Given the description of an element on the screen output the (x, y) to click on. 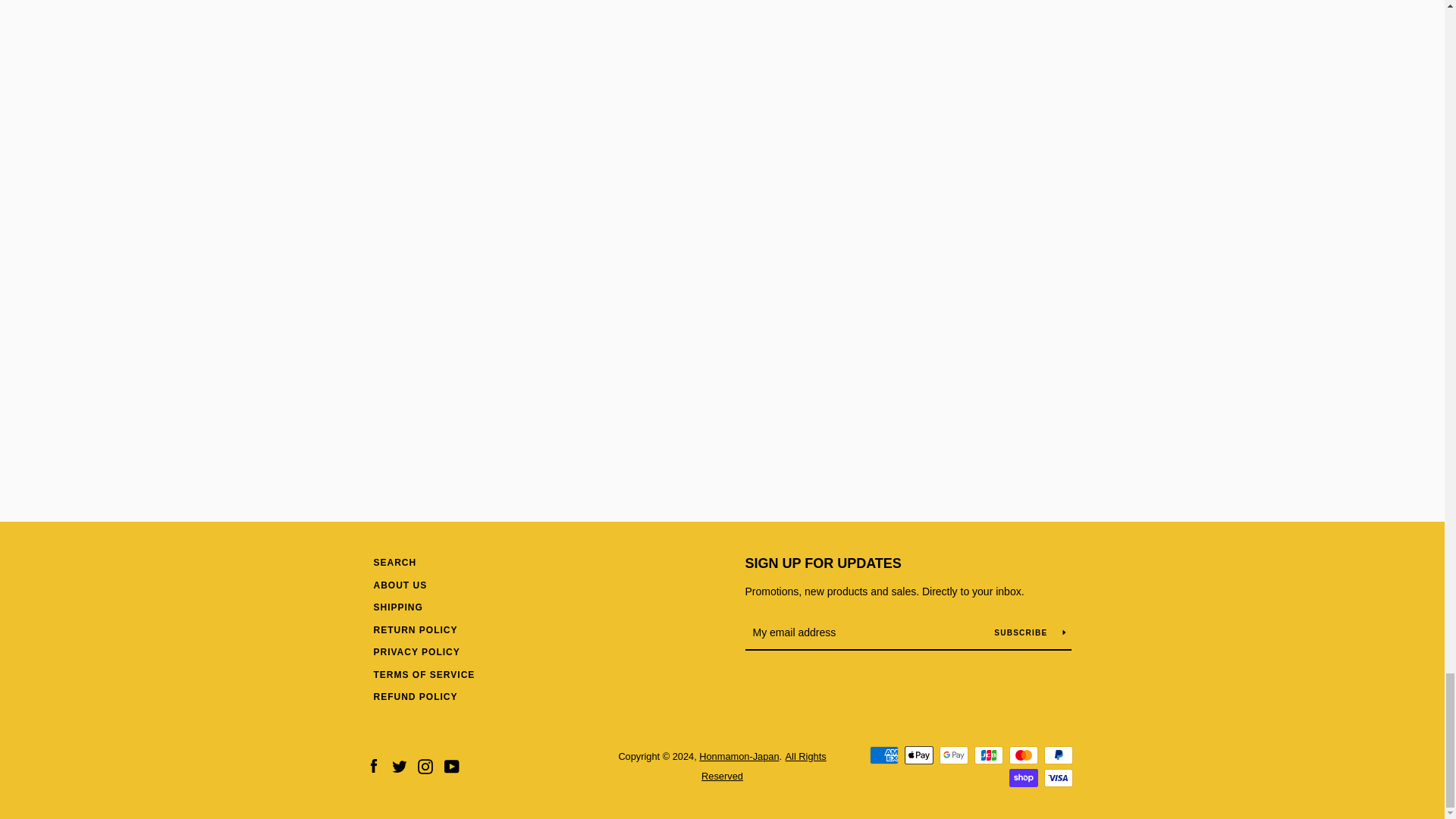
Honmamon-Japan on Facebook (372, 765)
Honmamon-Japan on YouTube (452, 765)
Mastercard (1022, 755)
Apple Pay (918, 755)
Honmamon-Japan on Instagram (424, 765)
Shop Pay (1022, 778)
Visa (1057, 778)
American Express (883, 755)
JCB (988, 755)
Honmamon-Japan on Twitter (399, 765)
